Given the description of an element on the screen output the (x, y) to click on. 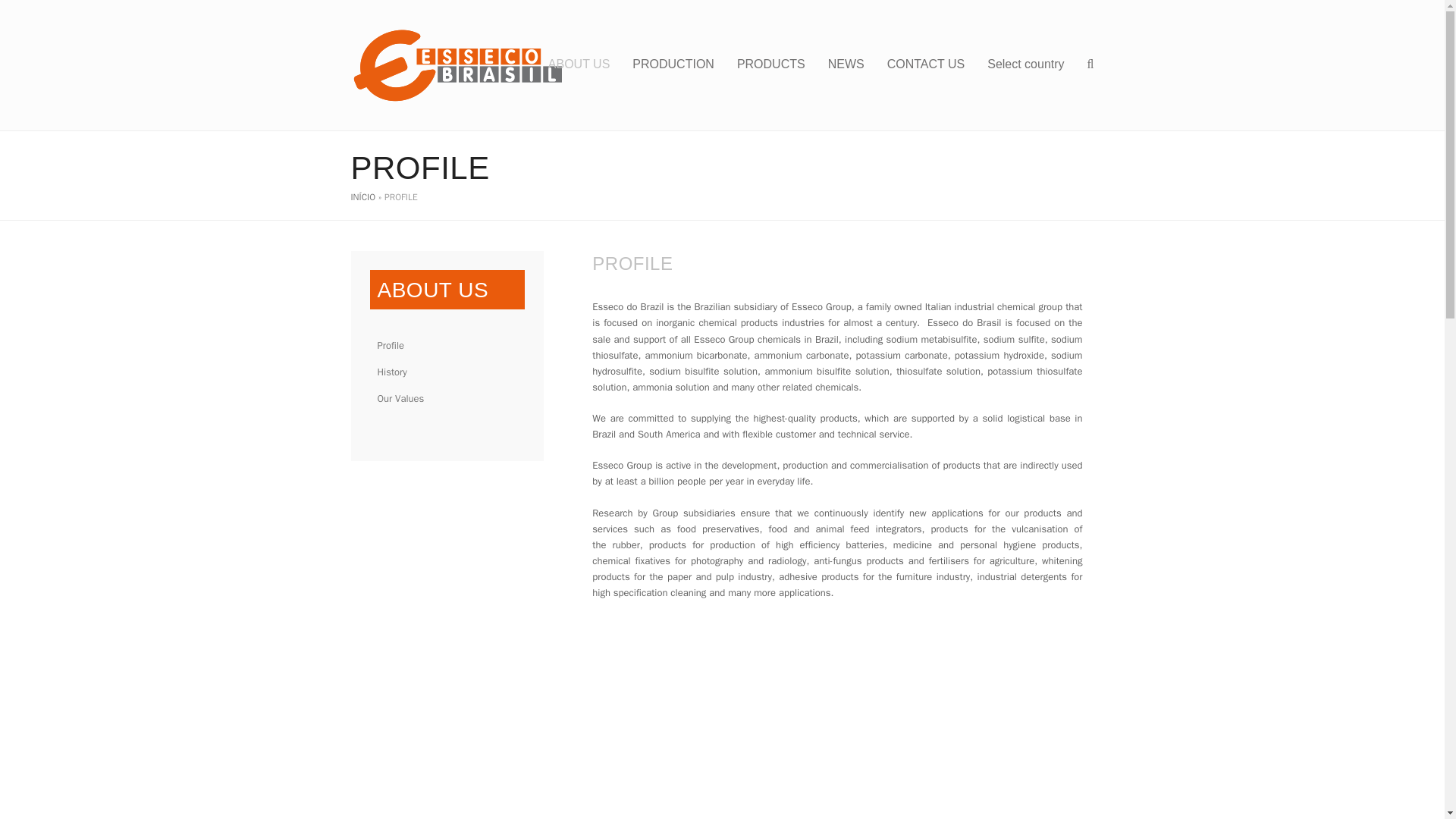
ABOUT US (579, 64)
NEWS (846, 64)
PRODUCTION (673, 64)
CONTACT US (926, 64)
Our Values (447, 397)
Select country (1025, 64)
Profile (447, 345)
PRODUCTS (770, 64)
History (447, 371)
